Given the description of an element on the screen output the (x, y) to click on. 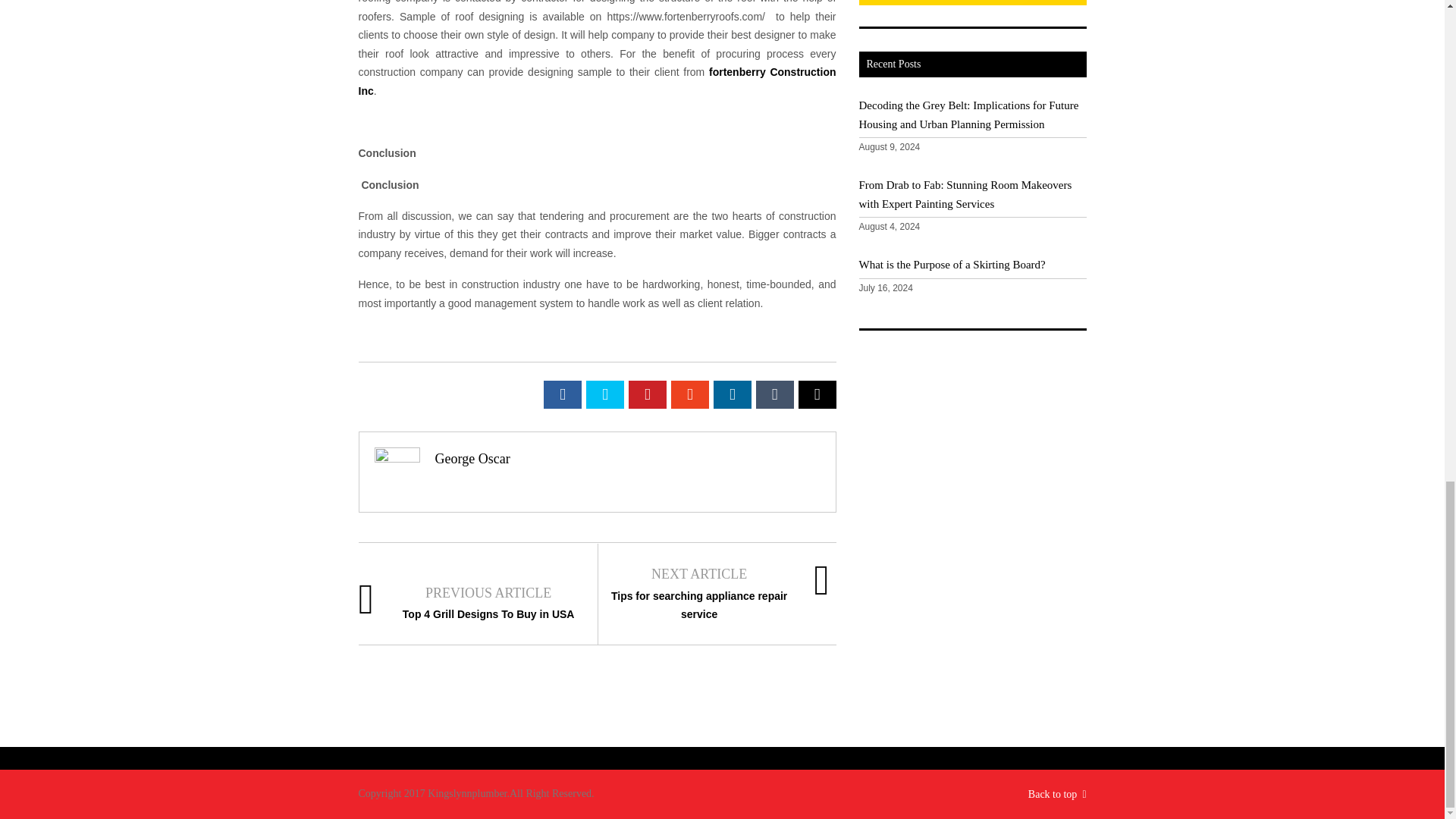
Top 4 Grill Designs To Buy in USA (489, 613)
fortenberry Construction Inc (596, 81)
George Oscar (473, 458)
Tips for searching appliance repair service (699, 604)
